Given the description of an element on the screen output the (x, y) to click on. 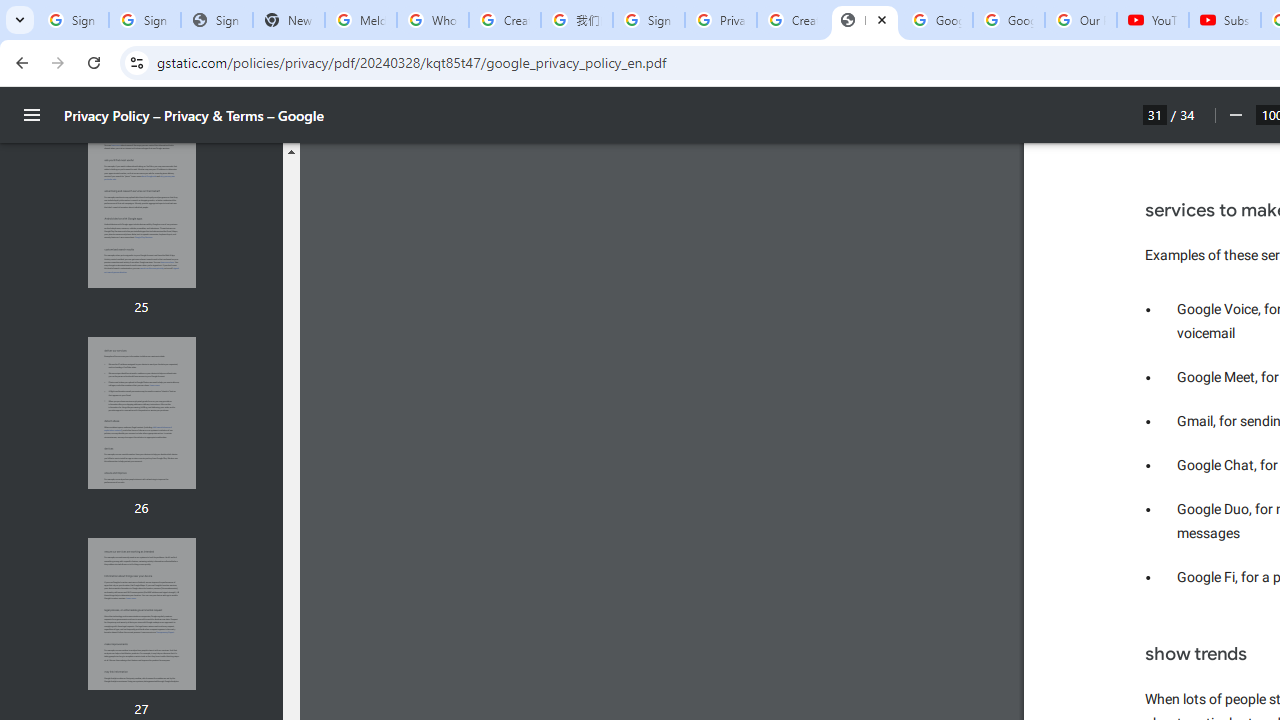
Page number (1155, 114)
